Given the description of an element on the screen output the (x, y) to click on. 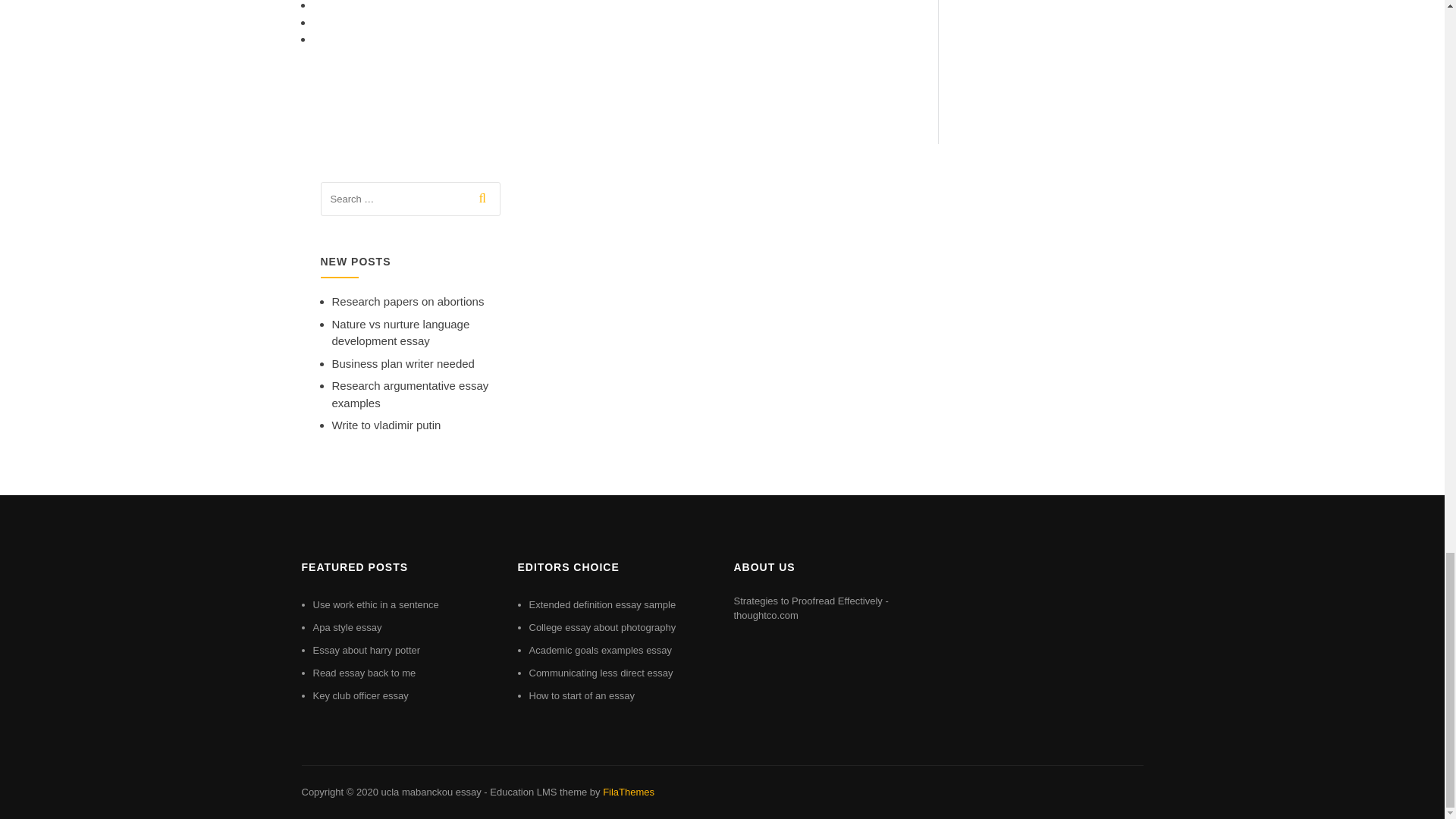
Essay about harry potter (366, 650)
How to start of an essay (581, 695)
Business plan writer needed (402, 363)
Communicating less direct essay (600, 672)
Write to vladimir putin (386, 424)
Extended definition essay sample (603, 604)
Academic goals examples essay (600, 650)
Read essay back to me (363, 672)
Apa style essay (347, 627)
ucla mabanckou essay (430, 791)
ucla mabanckou essay (430, 791)
Research argumentative essay examples (410, 394)
Nature vs nurture language development essay (400, 332)
College essay about photography (603, 627)
Research papers on abortions (407, 300)
